Given the description of an element on the screen output the (x, y) to click on. 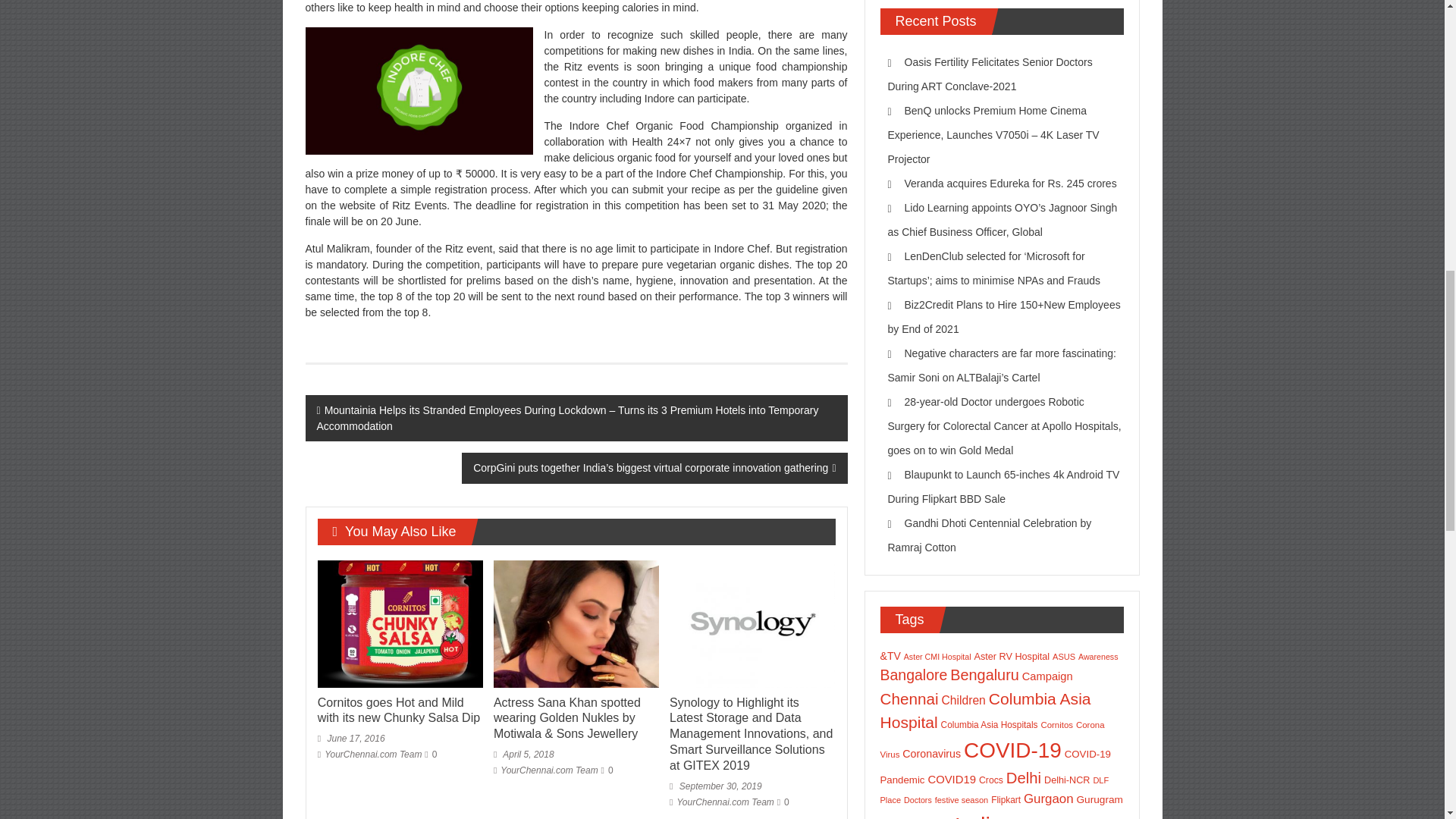
Cornitos goes Hot and Mild with its new Chunky Salsa Dip (400, 623)
Cornitos goes Hot and Mild with its new Chunky Salsa Dip (398, 710)
3:31 am (351, 738)
